Given the description of an element on the screen output the (x, y) to click on. 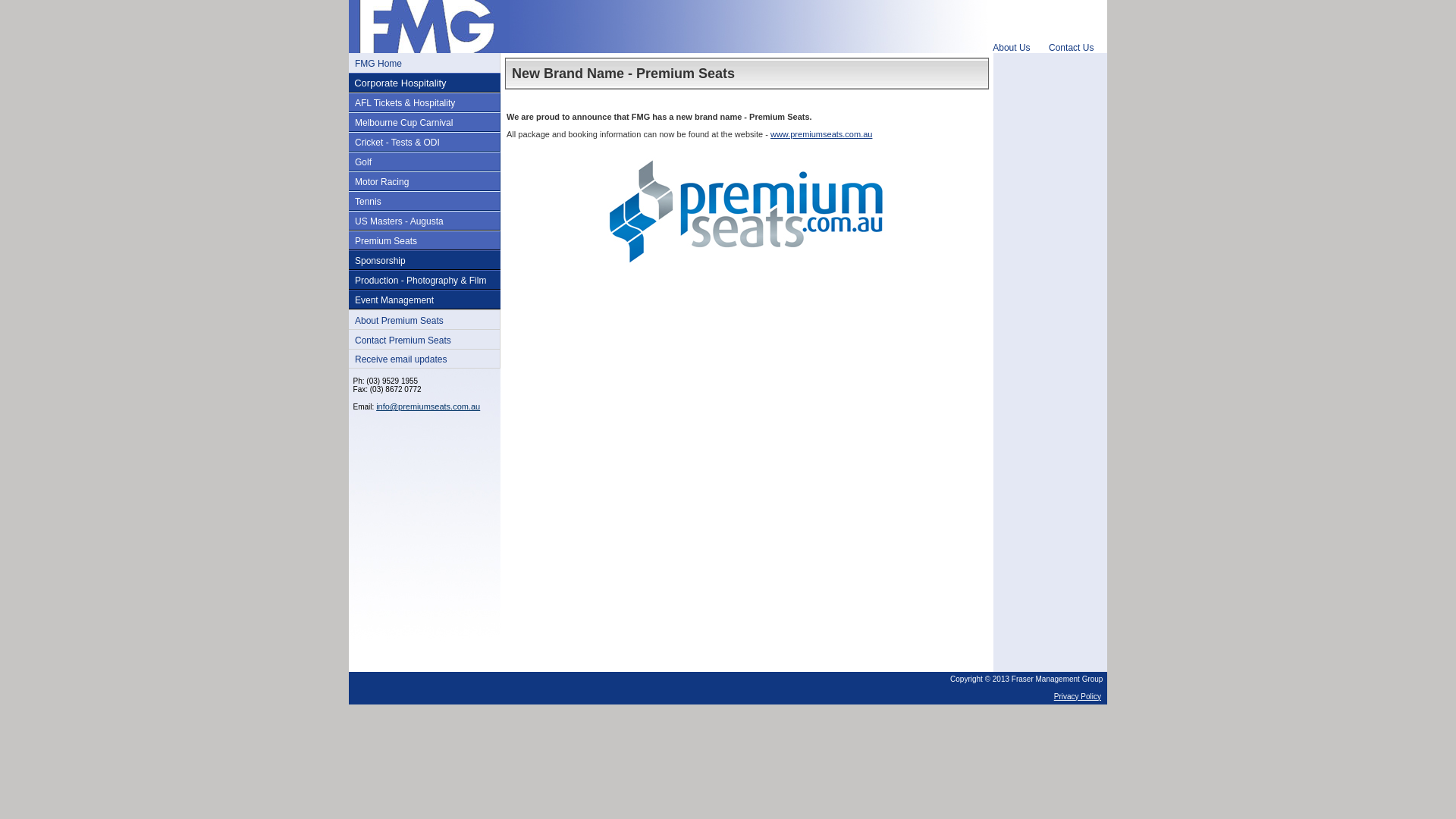
Cricket - Tests & ODI Element type: text (396, 142)
Sponsorship Element type: text (379, 260)
Melbourne Cup Carnival Element type: text (403, 122)
AFL Tickets & Hospitality Element type: text (404, 102)
US Masters - Augusta Element type: text (398, 221)
Tennis Element type: text (367, 201)
Motor Racing Element type: text (381, 181)
Contact Us Element type: text (1070, 47)
Event Management Element type: text (393, 299)
Production - Photography & Film Element type: text (420, 280)
Receive email updates Element type: text (400, 359)
Contact Premium Seats Element type: text (402, 340)
Golf Element type: text (362, 161)
Premium Seats Element type: text (385, 240)
About Premium Seats Element type: text (398, 320)
FMG Home Element type: text (377, 63)
Privacy Policy Element type: text (1077, 695)
www.premiumseats.com.au Element type: text (821, 133)
About Us Element type: text (1010, 47)
info@premiumseats.com.au Element type: text (428, 406)
